Given the description of an element on the screen output the (x, y) to click on. 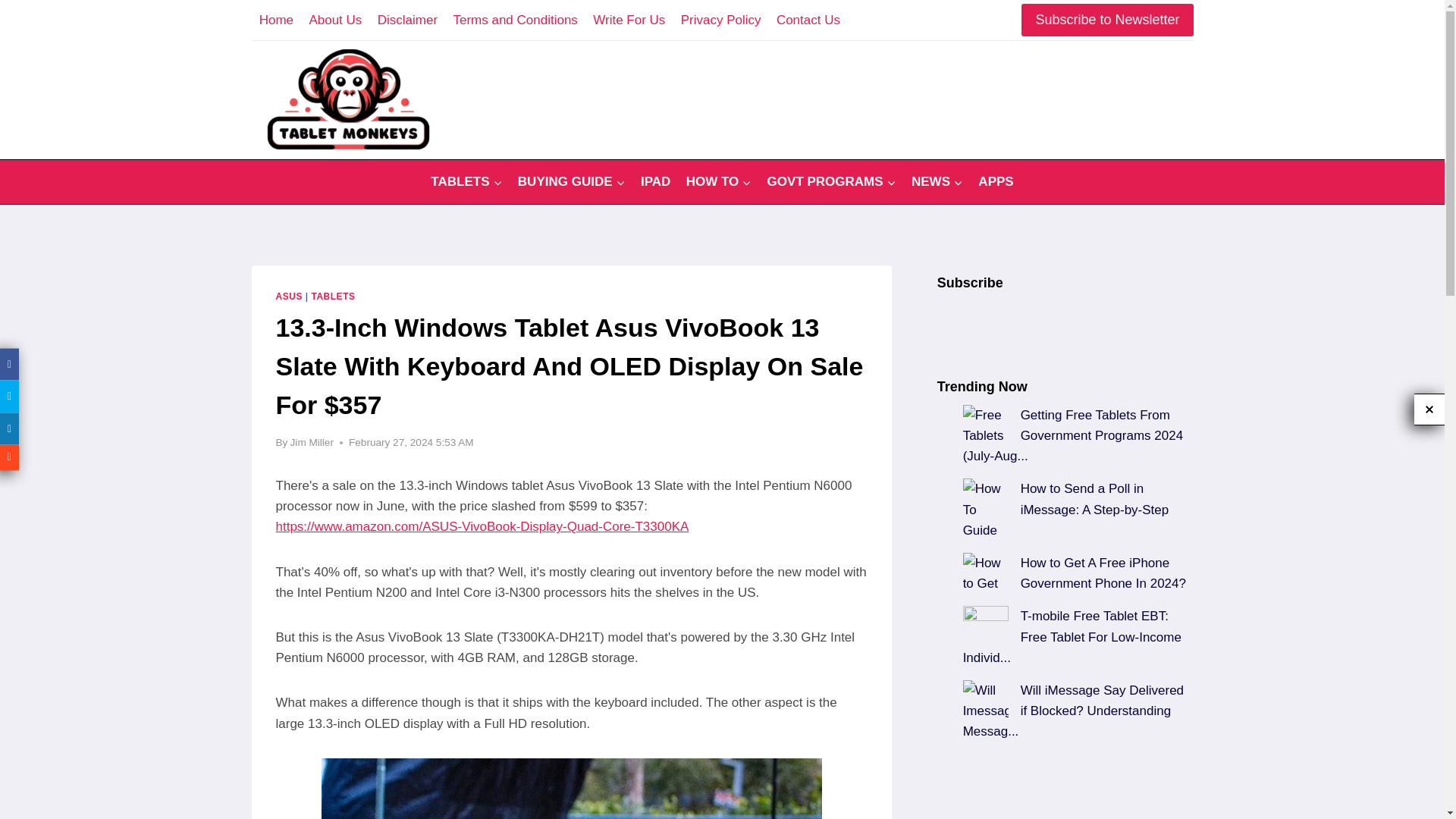
About Us (335, 19)
Privacy Policy (720, 19)
TABLETS (333, 296)
Jim Miller (311, 441)
IPAD (655, 181)
NEWS (937, 181)
Write For Us (628, 19)
TABLETS (467, 181)
APPS (996, 181)
GOVT PROGRAMS (830, 181)
Subscribe to Newsletter (1107, 20)
Contact Us (807, 19)
ASUS (289, 296)
BUYING GUIDE (572, 181)
